Given the description of an element on the screen output the (x, y) to click on. 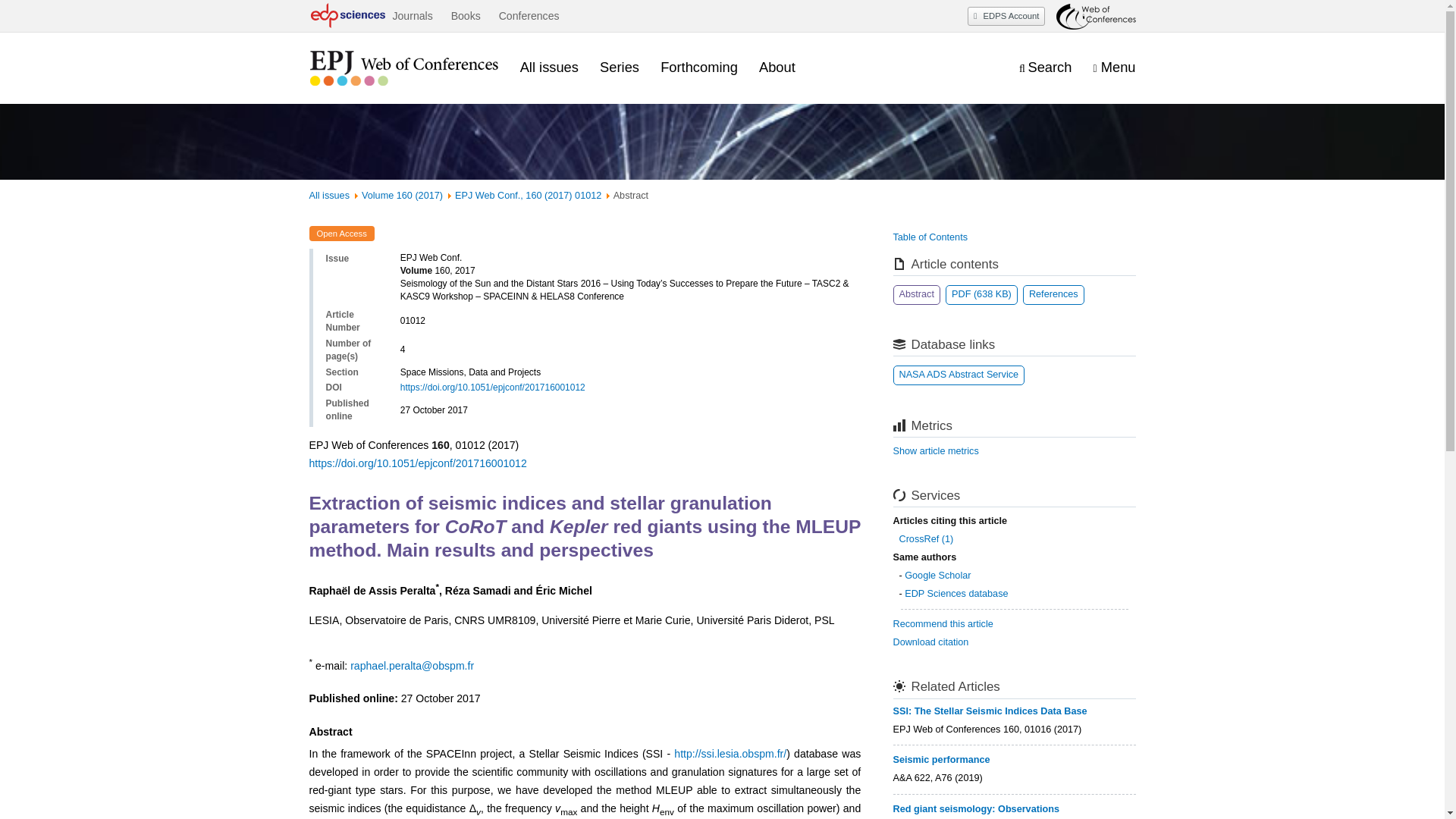
Forthcoming (699, 67)
About (776, 67)
All issues (328, 195)
Conferences (529, 16)
Journal homepage (403, 67)
Series (619, 67)
Display the search engine (1045, 67)
Books (465, 16)
All issues (548, 67)
